Given the description of an element on the screen output the (x, y) to click on. 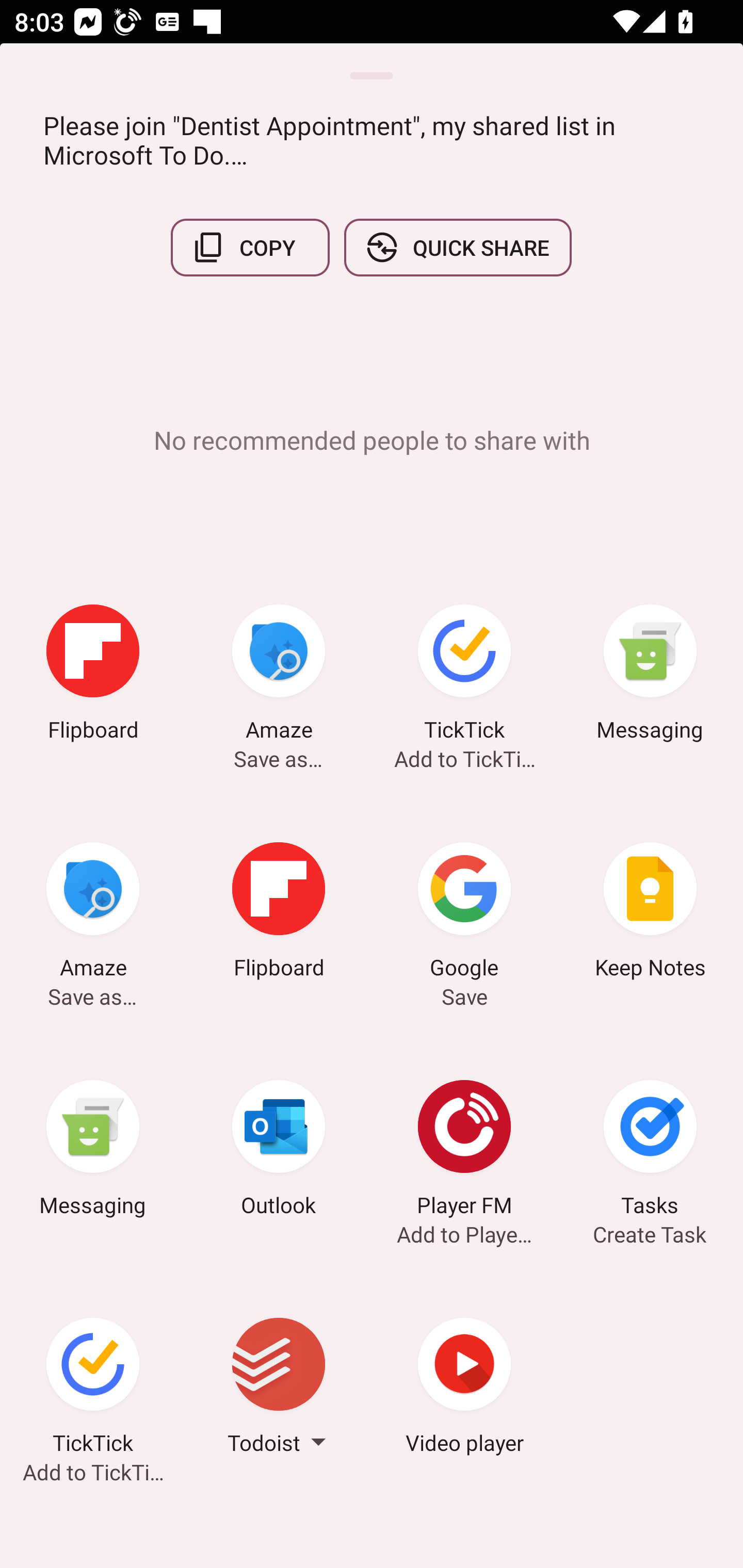
COPY (249, 247)
QUICK SHARE (457, 247)
Flipboard (92, 675)
Amaze Save as… (278, 675)
TickTick Add to TickTick (464, 675)
Messaging (650, 675)
Amaze Save as… (92, 913)
Flipboard (278, 913)
Google Save (464, 913)
Keep Notes (650, 913)
Messaging (92, 1151)
Outlook (278, 1151)
Player FM Add to Player FM (464, 1151)
Tasks Create Task (650, 1151)
TickTick Add to TickTick (92, 1389)
Todoist (278, 1389)
Video player (464, 1389)
